Given the description of an element on the screen output the (x, y) to click on. 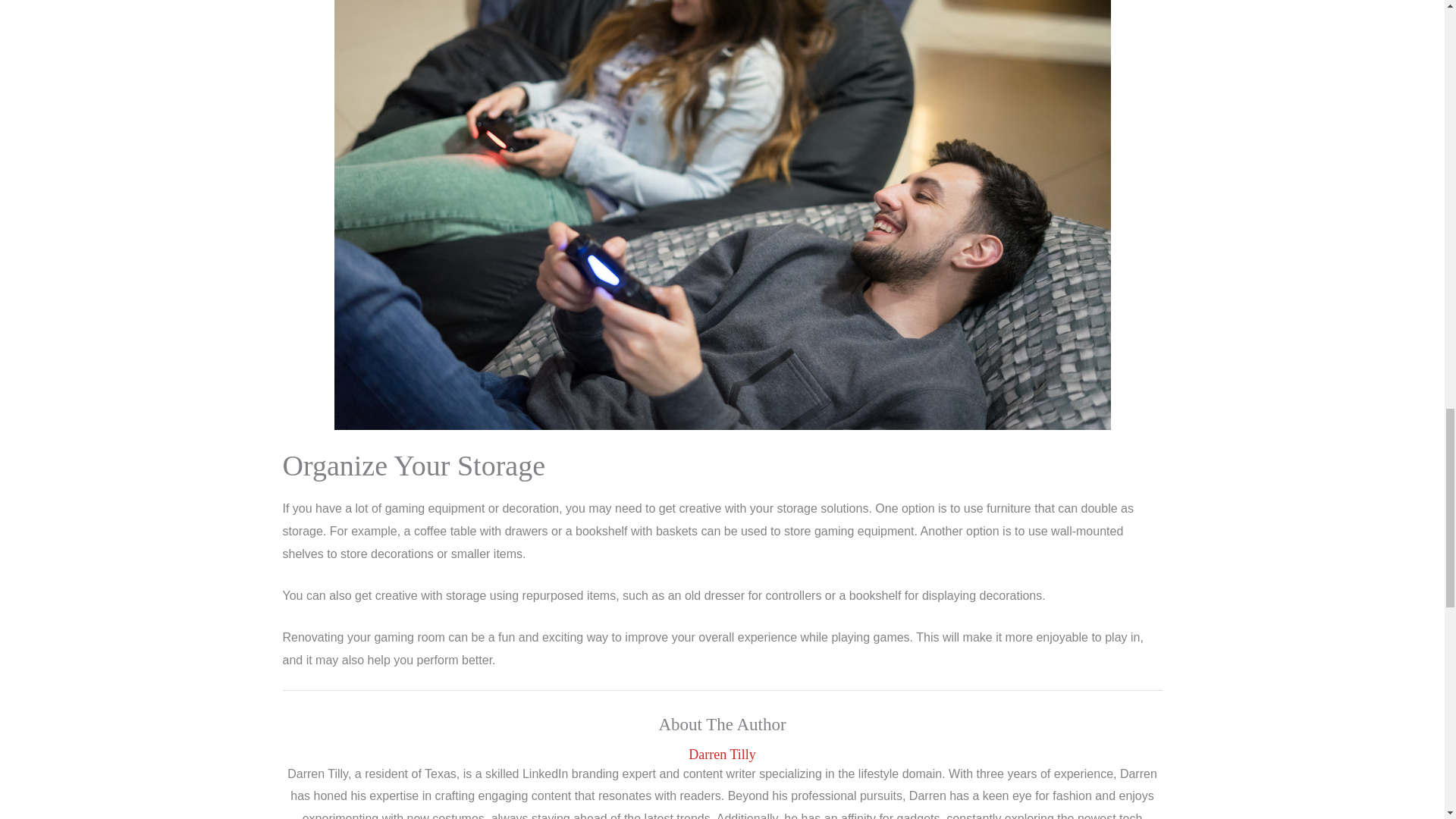
Darren Tilly (721, 754)
